Given the description of an element on the screen output the (x, y) to click on. 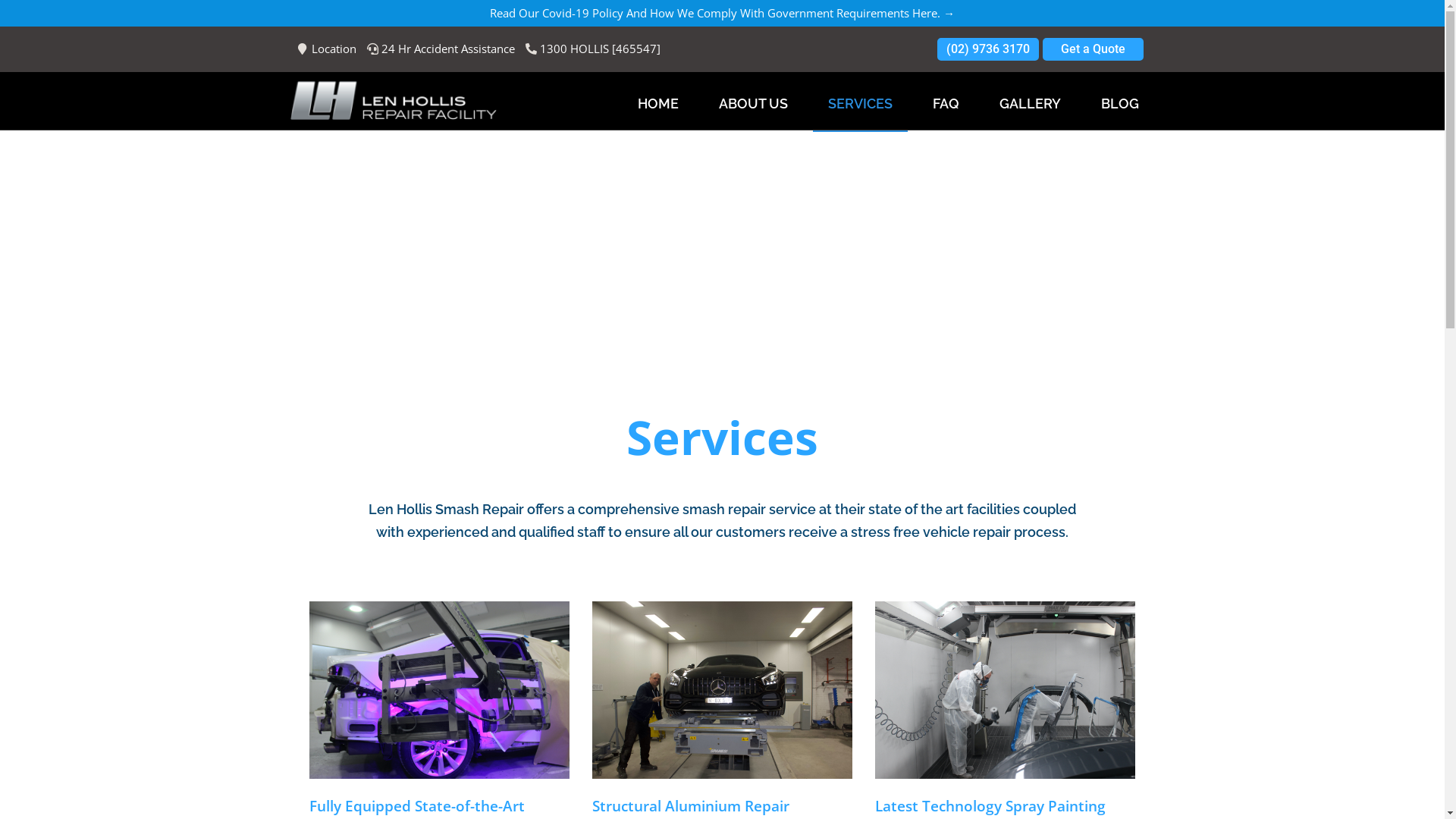
GALLERY Element type: text (1030, 103)
(02) 9736 3170 Element type: text (987, 48)
ABOUT US Element type: text (753, 103)
FAQ Element type: text (945, 103)
24 Hr Accident Assistance Element type: text (440, 48)
Get a Quote Element type: text (1092, 48)
BLOG Element type: text (1119, 103)
SERVICES Element type: text (859, 103)
HOME Element type: text (657, 103)
1300 HOLLIS [465547] Element type: text (592, 48)
Location Element type: text (326, 48)
